Given the description of an element on the screen output the (x, y) to click on. 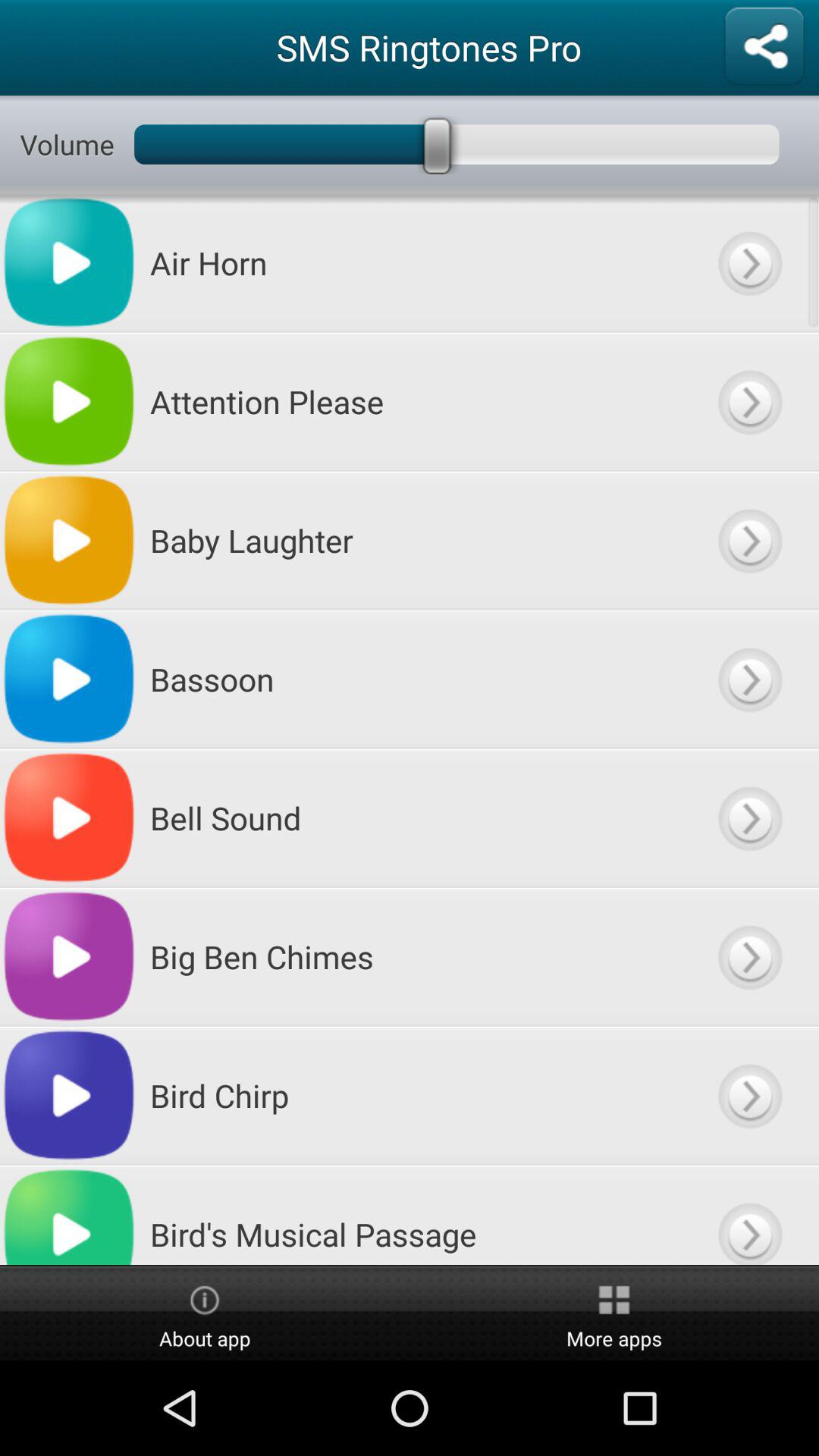
go to the selected item (749, 679)
